Given the description of an element on the screen output the (x, y) to click on. 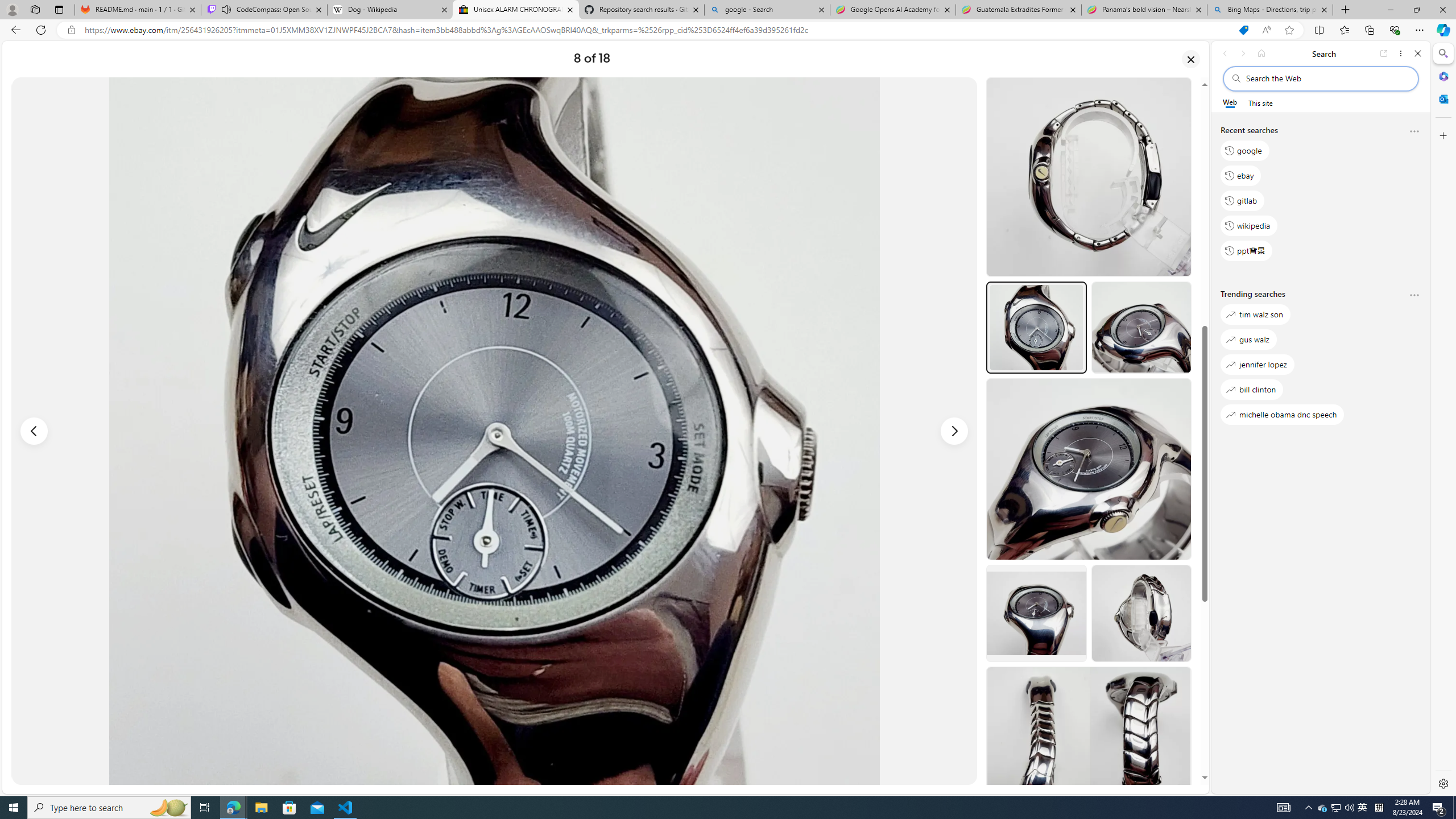
Previous image - Item images thumbnails (34, 430)
Dog - Wikipedia (389, 9)
Mute tab (226, 8)
wikipedia (1249, 225)
